Given the description of an element on the screen output the (x, y) to click on. 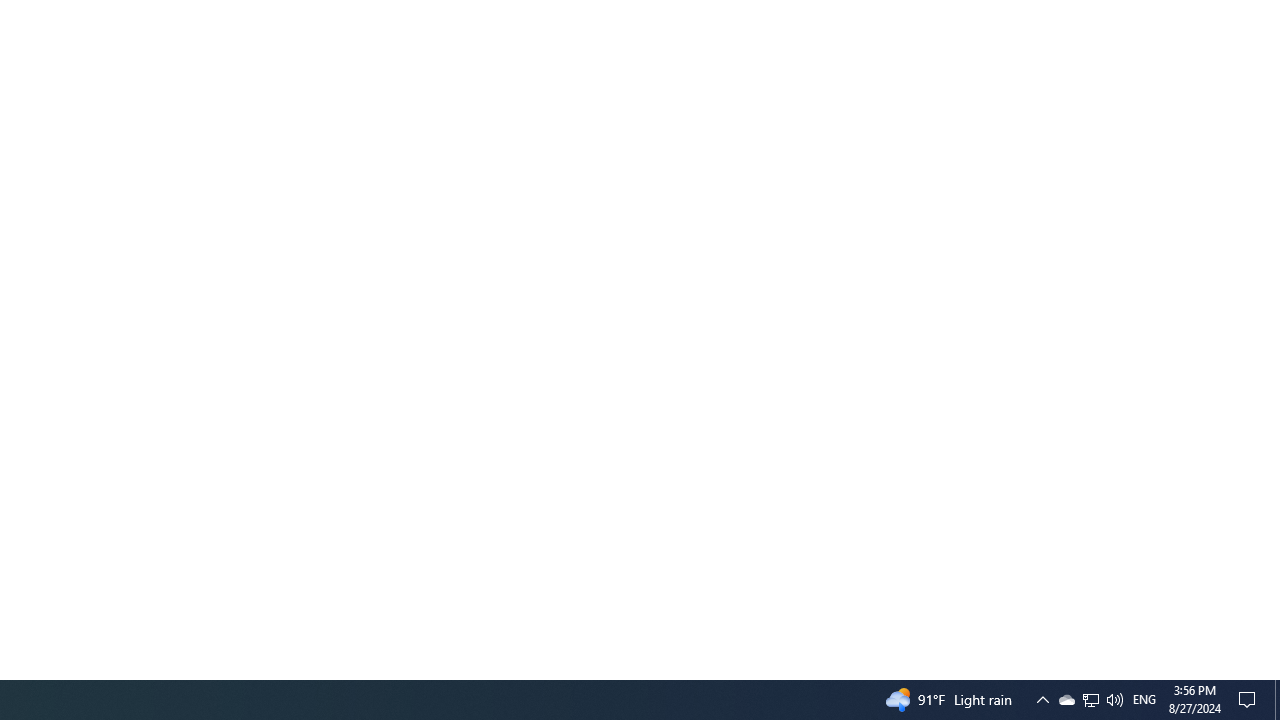
Q2790: 100% (1114, 699)
Show desktop (1277, 699)
Tray Input Indicator - English (United States) (1144, 699)
Notification Chevron (1066, 699)
Action Center, No new notifications (1042, 699)
User Promoted Notification Area (1250, 699)
